Given the description of an element on the screen output the (x, y) to click on. 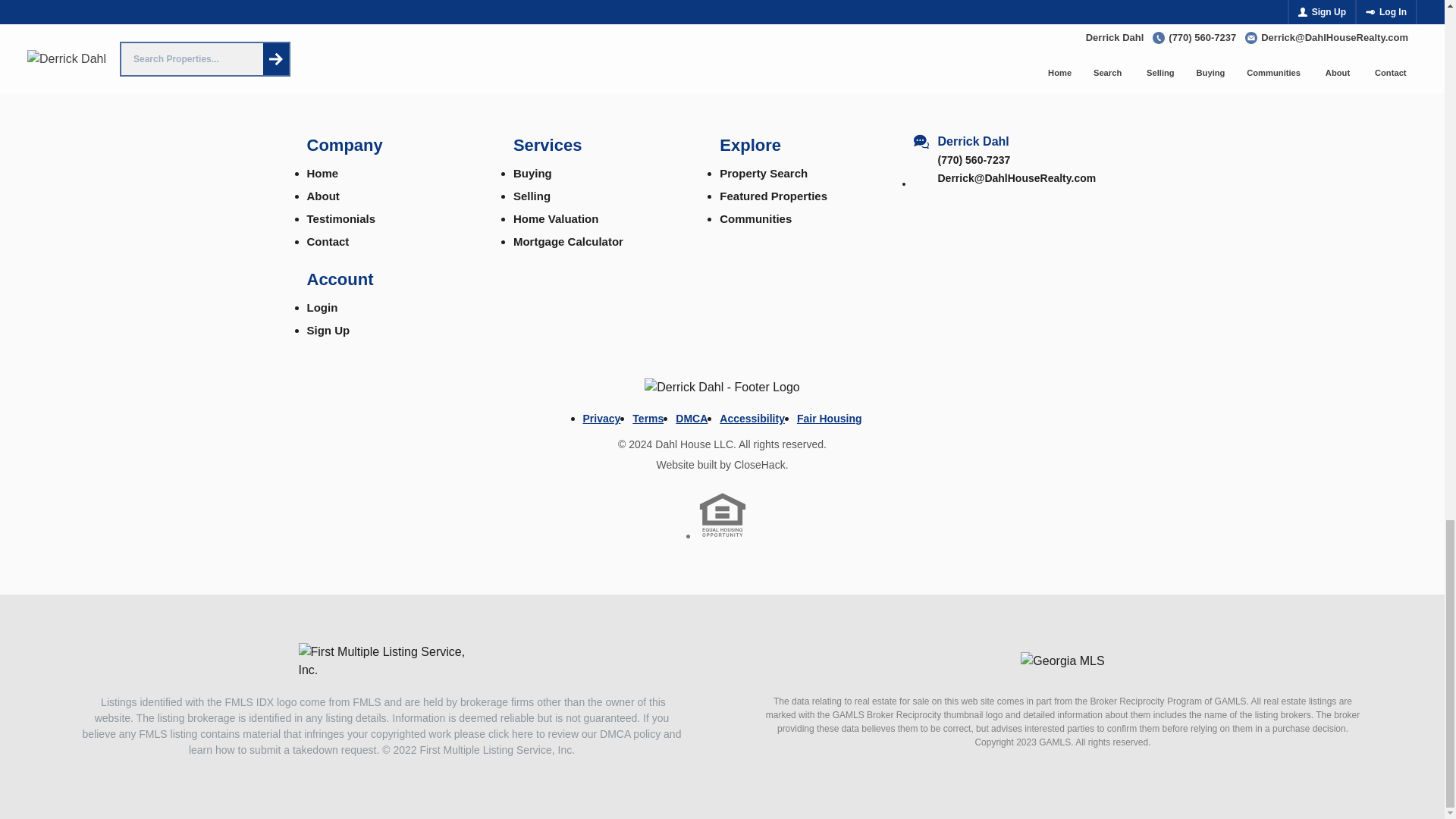
Company (402, 145)
Buying (609, 173)
Home (402, 173)
Services (609, 145)
Contact (402, 241)
About (402, 196)
Derrick Dahl (1016, 141)
Testimonials (402, 219)
